Given the description of an element on the screen output the (x, y) to click on. 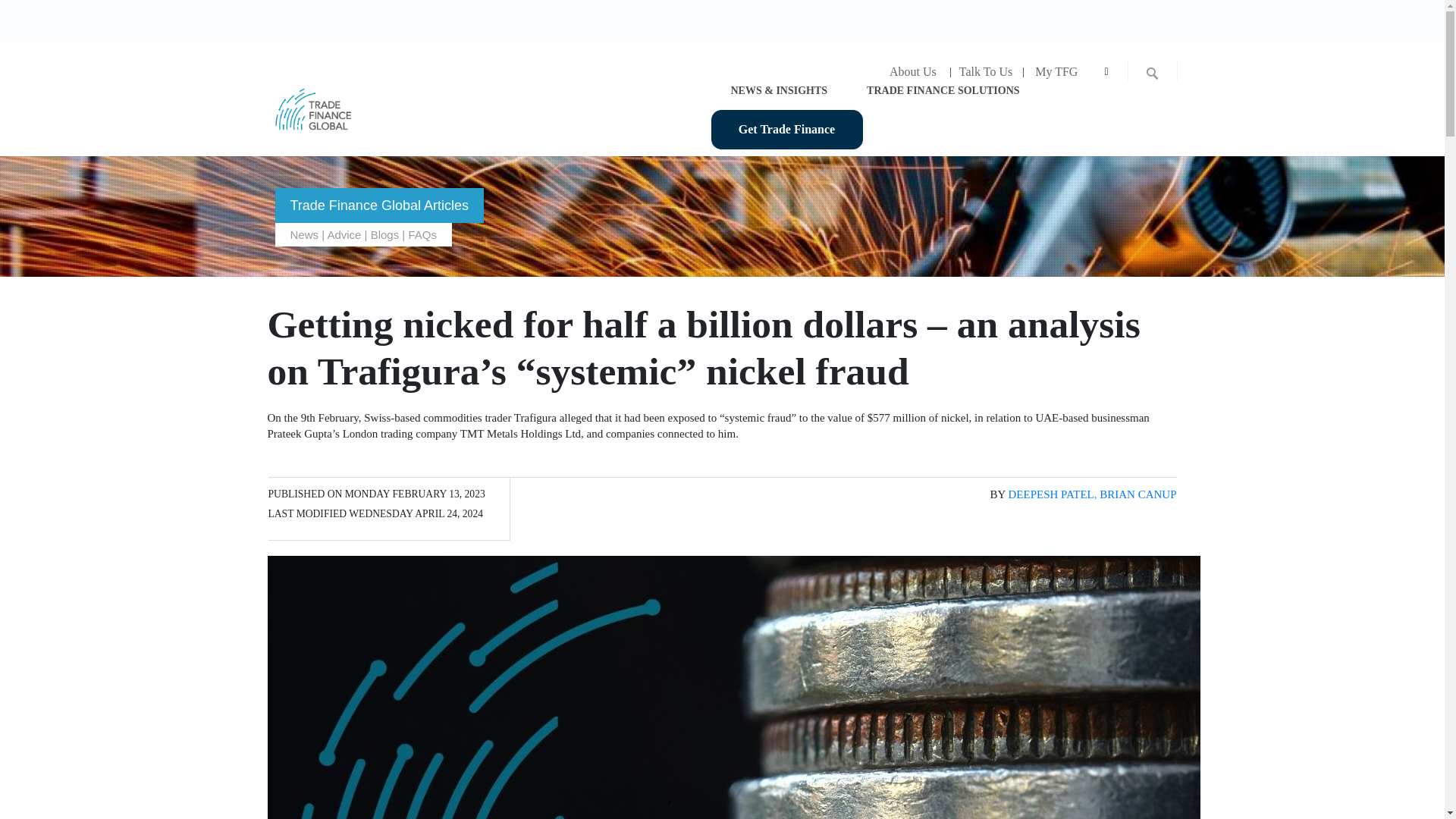
My TFG (1056, 70)
About Us (912, 70)
Posts by Deepesh Patel (1051, 494)
Search (13, 10)
Talk To Us (985, 70)
